Given the description of an element on the screen output the (x, y) to click on. 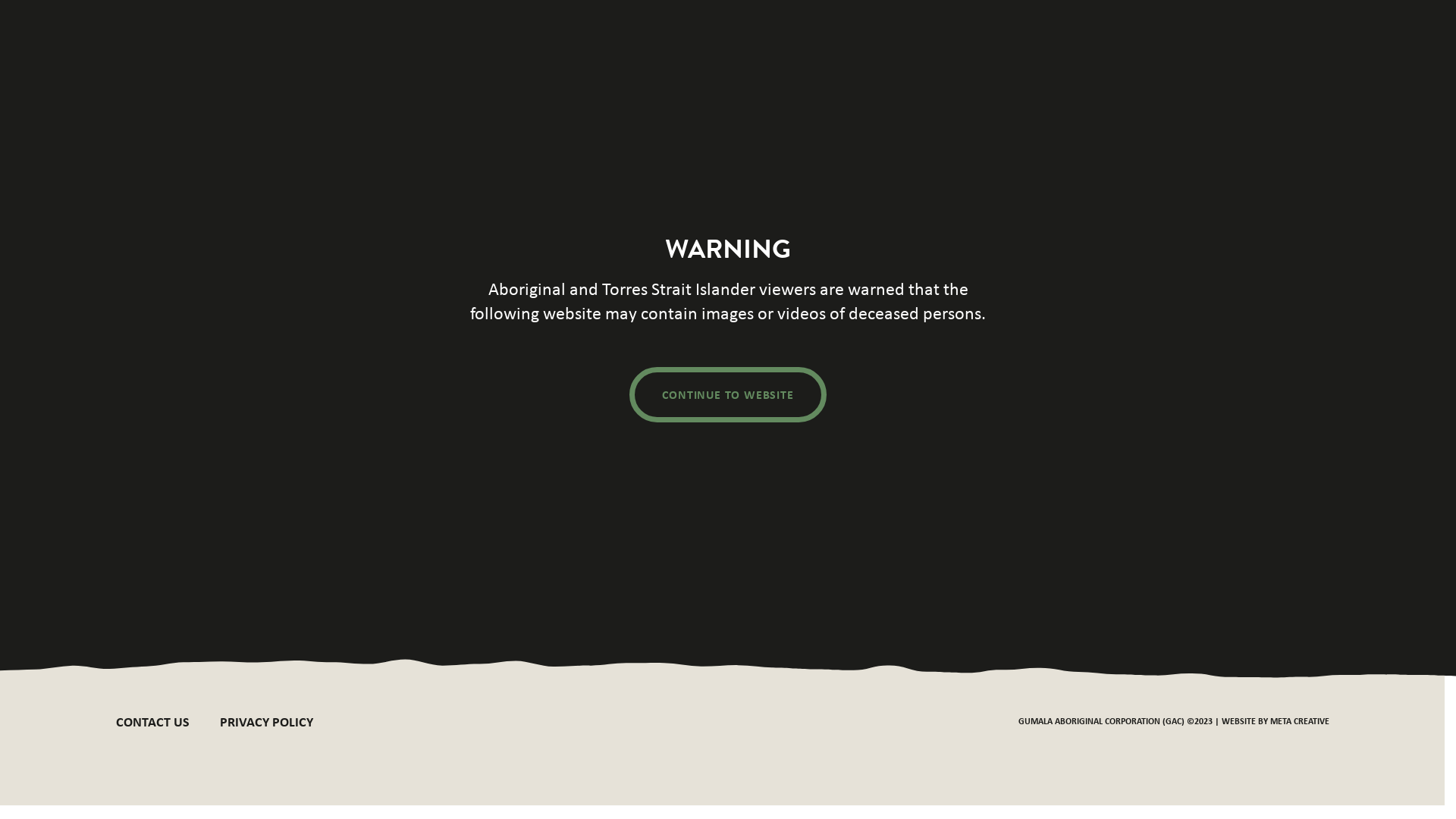
ABOUT US Element type: text (513, 170)
CONTACT US Element type: text (151, 721)
NEWS & PUBLICATIONS Element type: text (840, 170)
CAREERS & TRAINING Element type: text (997, 170)
CONTINUE TO WEBSITE Element type: text (727, 394)
PORTAL LOGIN Element type: text (1150, 166)
PRIVACY POLICY Element type: text (266, 721)
info@gumala.com.au Element type: text (211, 627)
+61 (08) 9188 4500 Element type: text (213, 570)
GUMALA ENTERPRISES PTY LTD Element type: text (1139, 90)
CONTACT US Element type: text (1279, 166)
info@gumala.com.au Element type: text (519, 627)
MEMBERSHIP Element type: text (705, 170)
homepage Element type: text (545, 322)
+61 (08) 9219 4500 Element type: text (521, 570)
PROGRAMS Element type: text (605, 170)
THE GUMALA TRUST Element type: text (966, 90)
META CREATIVE Element type: text (1298, 720)
